Given the description of an element on the screen output the (x, y) to click on. 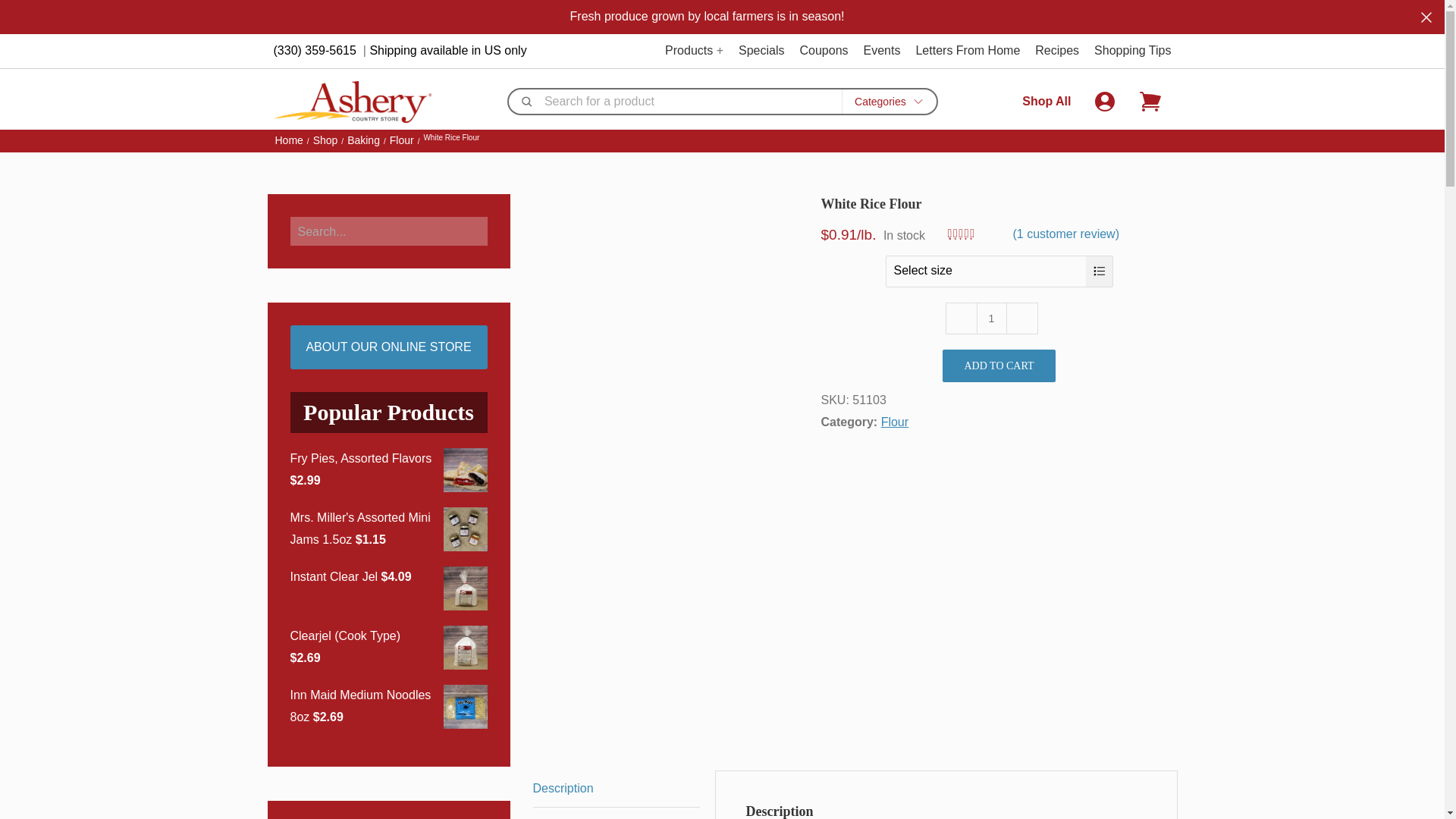
Shopping Tips (1132, 50)
Coupons (823, 50)
Recipes (1056, 50)
Qty (991, 318)
Products (689, 50)
Events (882, 50)
Categories   (889, 101)
Specials (761, 50)
1 (991, 318)
Letters From Home (967, 50)
